Given the description of an element on the screen output the (x, y) to click on. 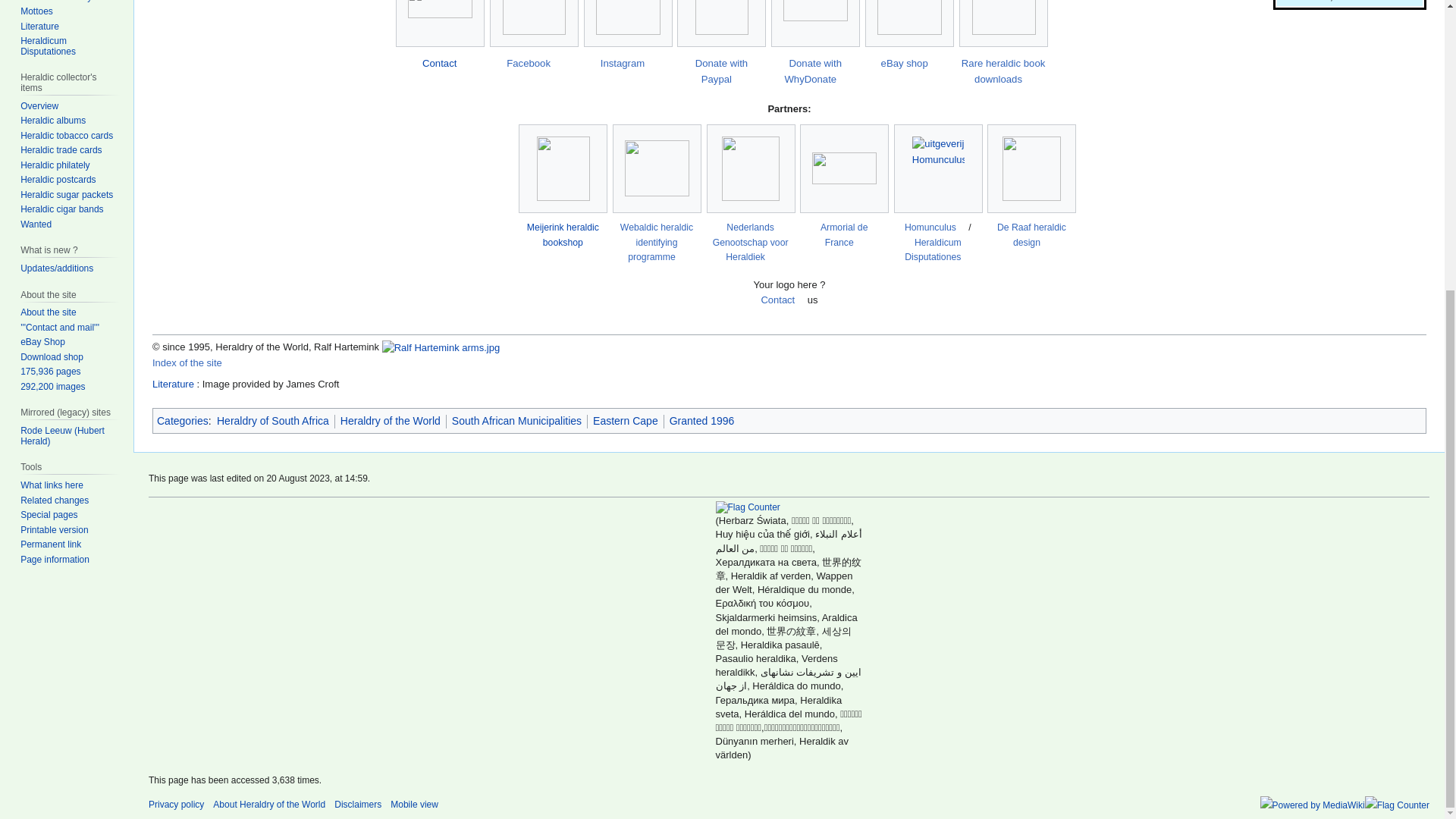
Donate with Paypal (721, 71)
Instagram (627, 62)
Contact (439, 62)
Donate with WhyDonate (814, 71)
Facebook (533, 62)
Meijerink heraldic bookshop (562, 234)
Rare heraldic book downloads (1002, 71)
Contact (439, 62)
eBay shop (908, 62)
